Given the description of an element on the screen output the (x, y) to click on. 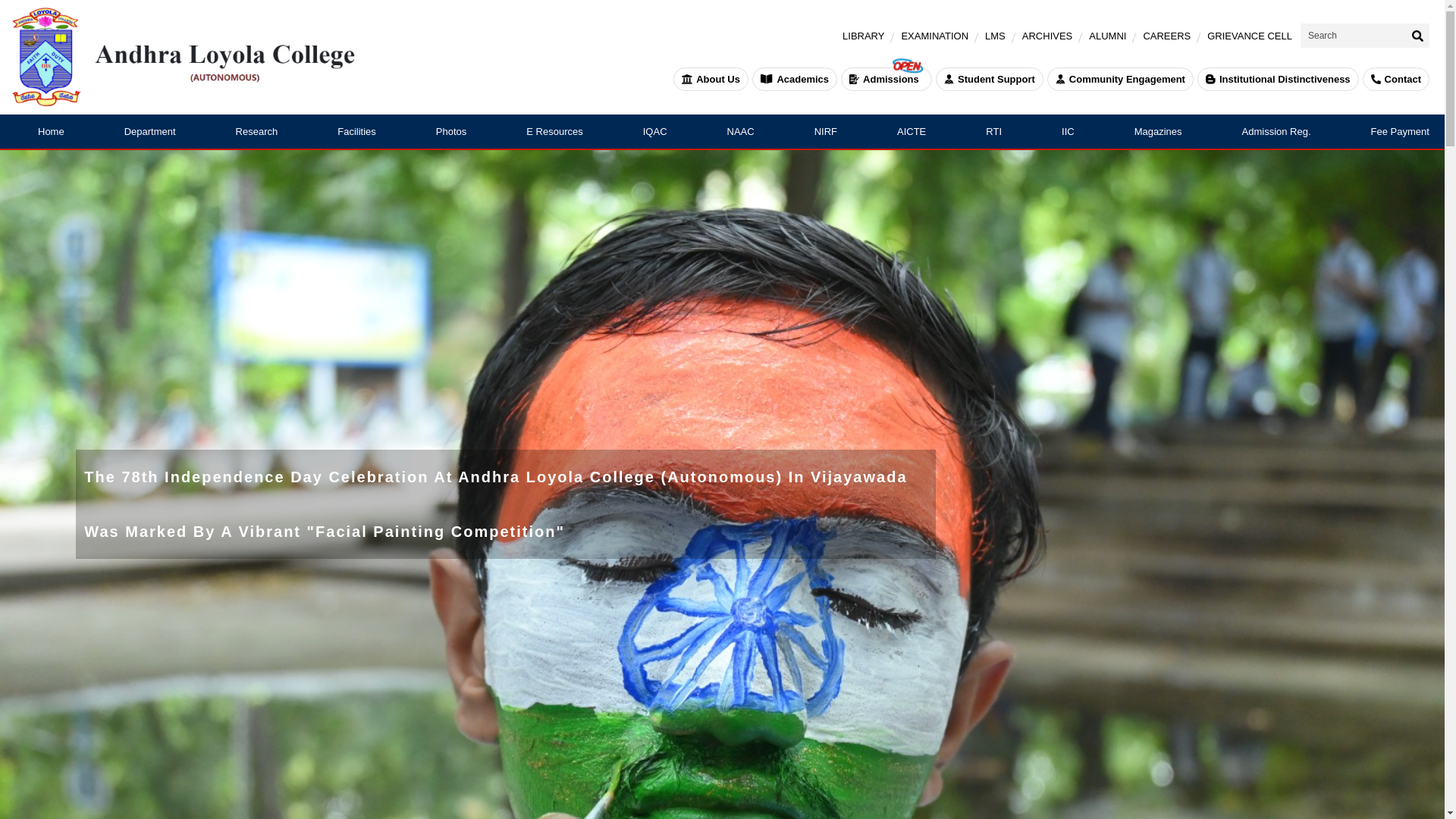
Student Support (989, 78)
ARCHIVES (1046, 35)
About Us (710, 78)
EXAMINATION (934, 35)
Admissions (886, 78)
Academics (794, 78)
LIBRARY (863, 35)
LMS (994, 35)
CAREERS (1166, 35)
GRIEVANCE CELL (1249, 35)
